Given the description of an element on the screen output the (x, y) to click on. 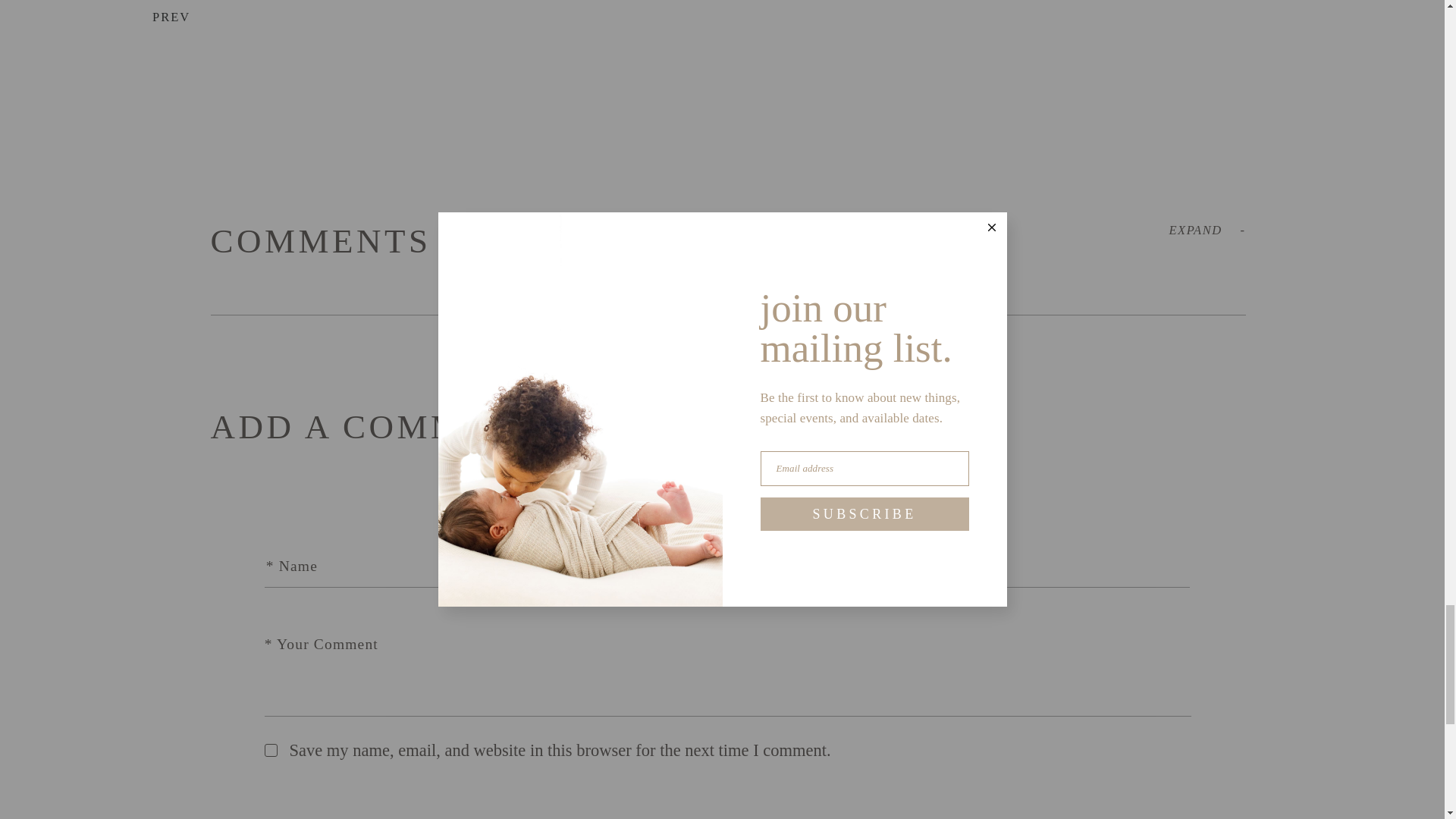
PREV (145, 16)
